Given the description of an element on the screen output the (x, y) to click on. 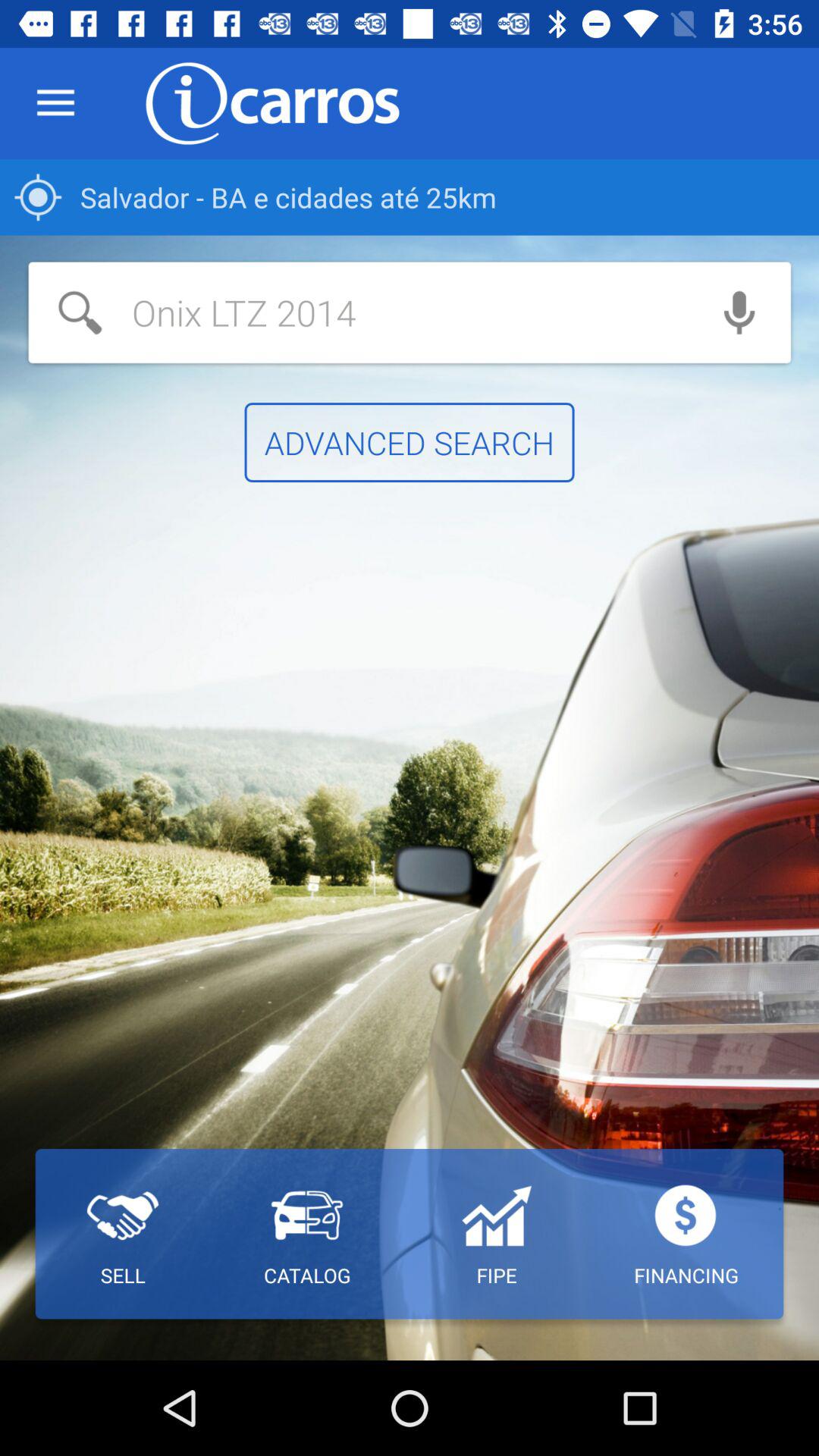
turn off the item above the catalog (409, 442)
